Given the description of an element on the screen output the (x, y) to click on. 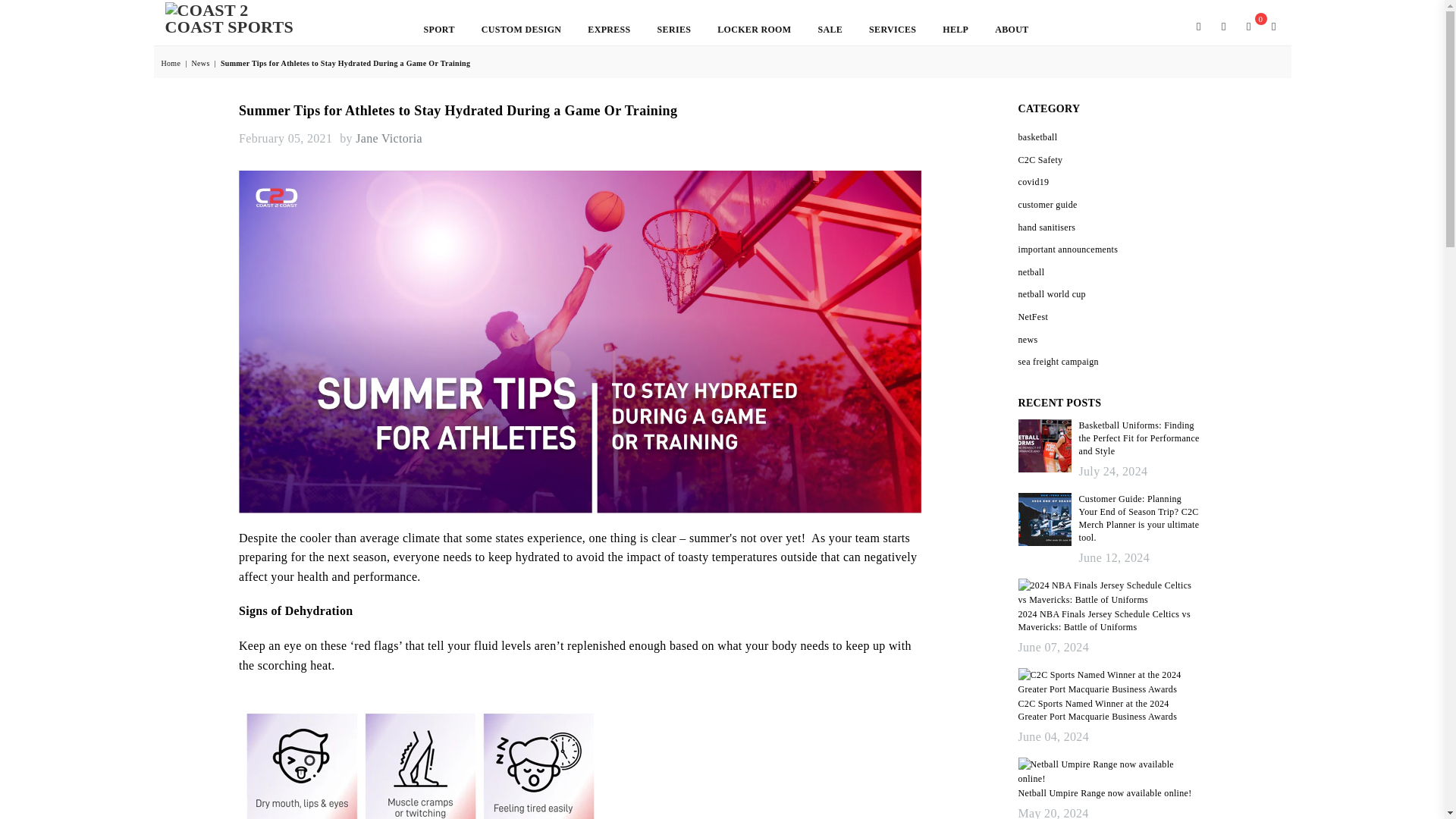
Logout (1223, 26)
Show articles tagged important announcements (1067, 249)
Show articles tagged covid19 (1032, 181)
COAST 2 COAST SPORTS (229, 23)
Show articles tagged basketball (1037, 136)
SPORT (438, 30)
SEARCH (1198, 26)
Show articles tagged netball (1030, 271)
MY CART (1248, 26)
Show articles tagged C2C Safety (1039, 159)
Back to the home page (171, 62)
Show articles tagged hand sanitisers (1046, 226)
Show articles tagged customer guide (1047, 204)
